Given the description of an element on the screen output the (x, y) to click on. 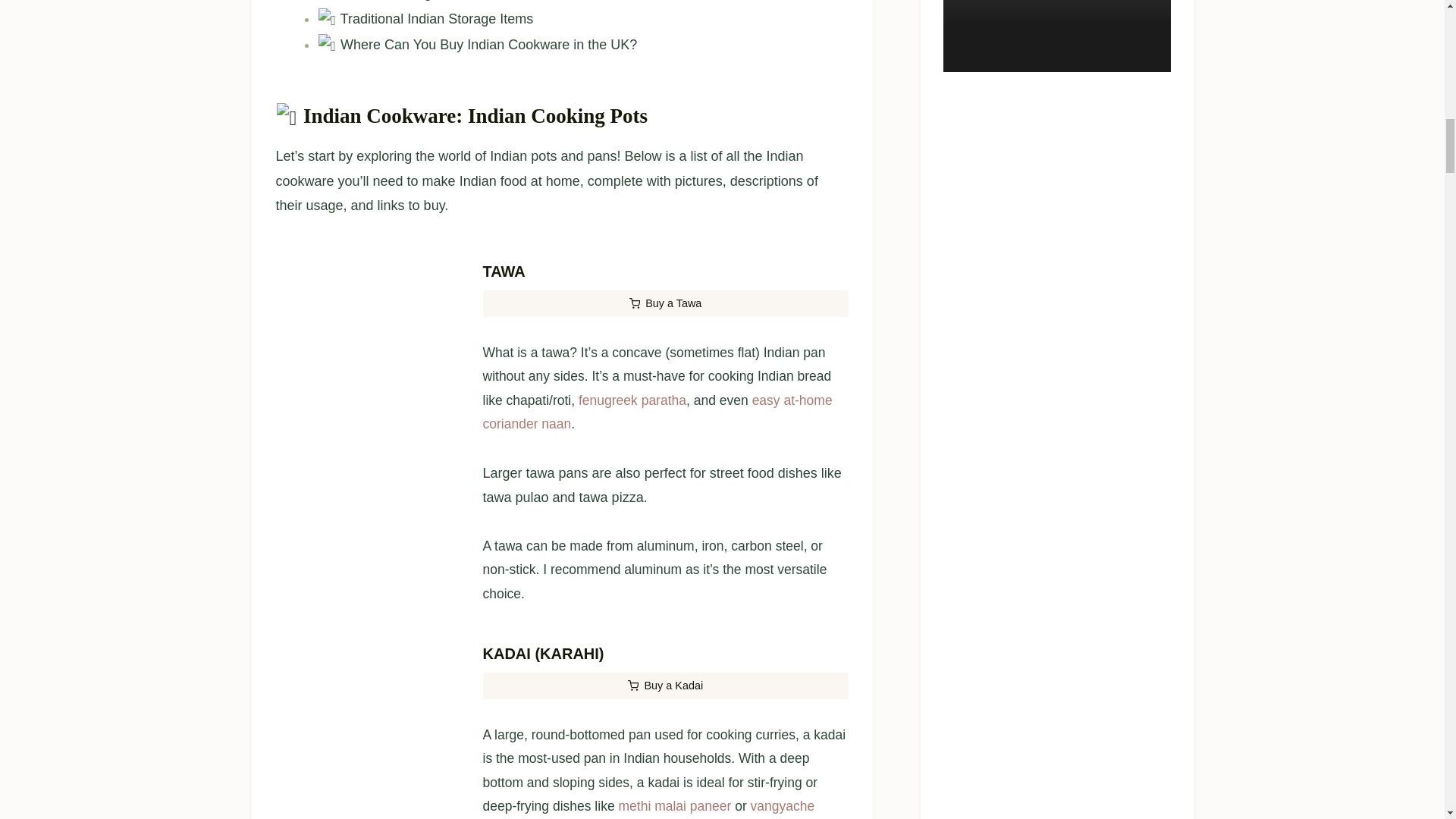
fenugreek paratha (631, 400)
Buy a Tawa (664, 303)
easy at-home coriander naan (656, 412)
Where Can You Buy Indian Cookware in the UK? (477, 44)
methi malai paneer (673, 806)
Buy a Kadai (664, 685)
Traditional Indian Storage Items (424, 18)
vangyache bharit (647, 808)
